Given the description of an element on the screen output the (x, y) to click on. 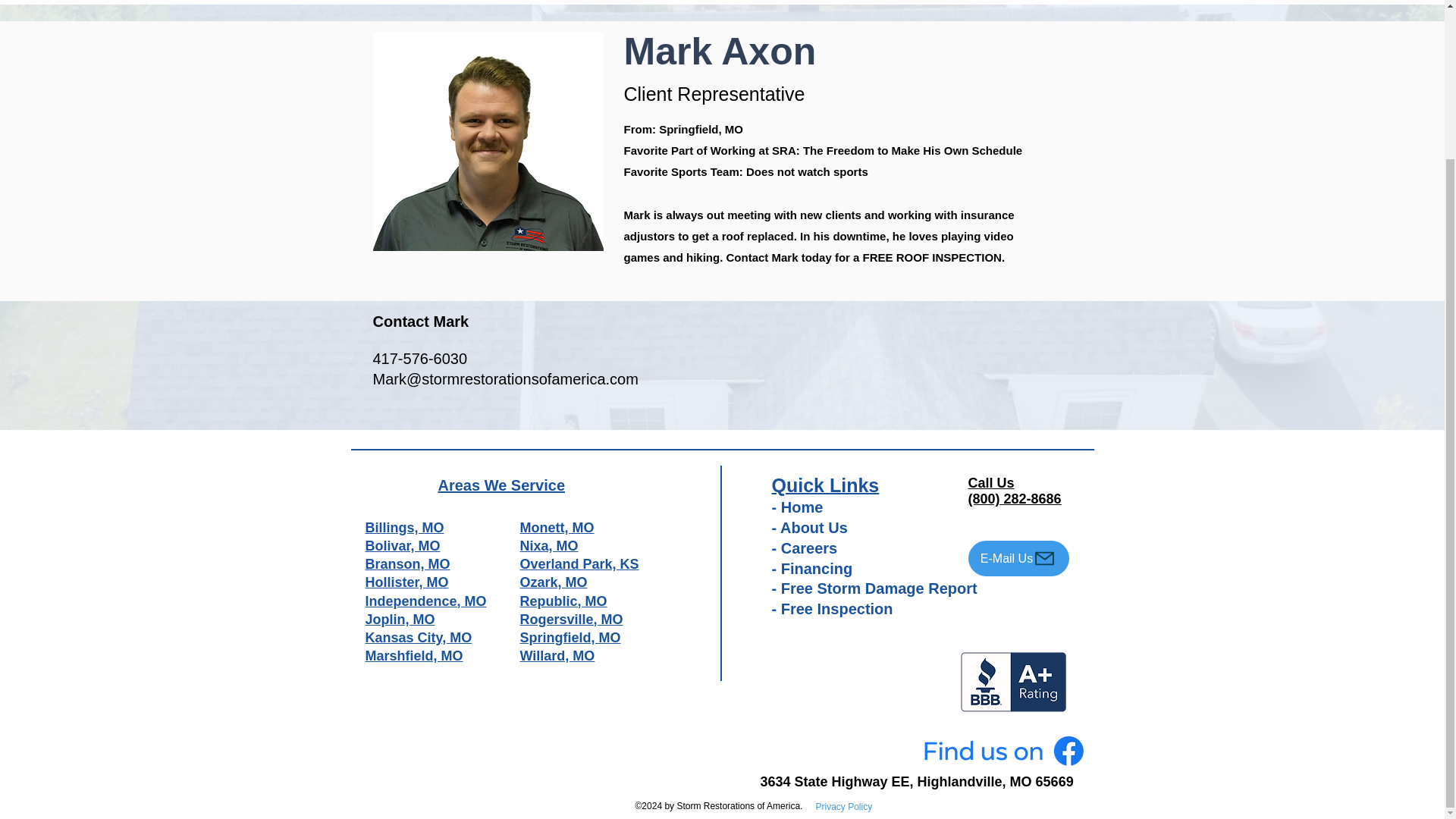
Branson, MO (407, 563)
Monett, MO (556, 527)
Independence, MO (425, 601)
- Home (797, 506)
Hollister, MO (406, 581)
- About Us (809, 527)
Joplin, MO (400, 619)
Marshfield, MO (414, 655)
- Free Storm Damage Report (873, 588)
Ozark, MO (553, 581)
Bolivar, MO (403, 545)
- Careers (804, 547)
Kansas City, MO (418, 637)
FindUs-FB-RGB-BRC-Site-500.png (1002, 750)
- Free Inspection (832, 608)
